Given the description of an element on the screen output the (x, y) to click on. 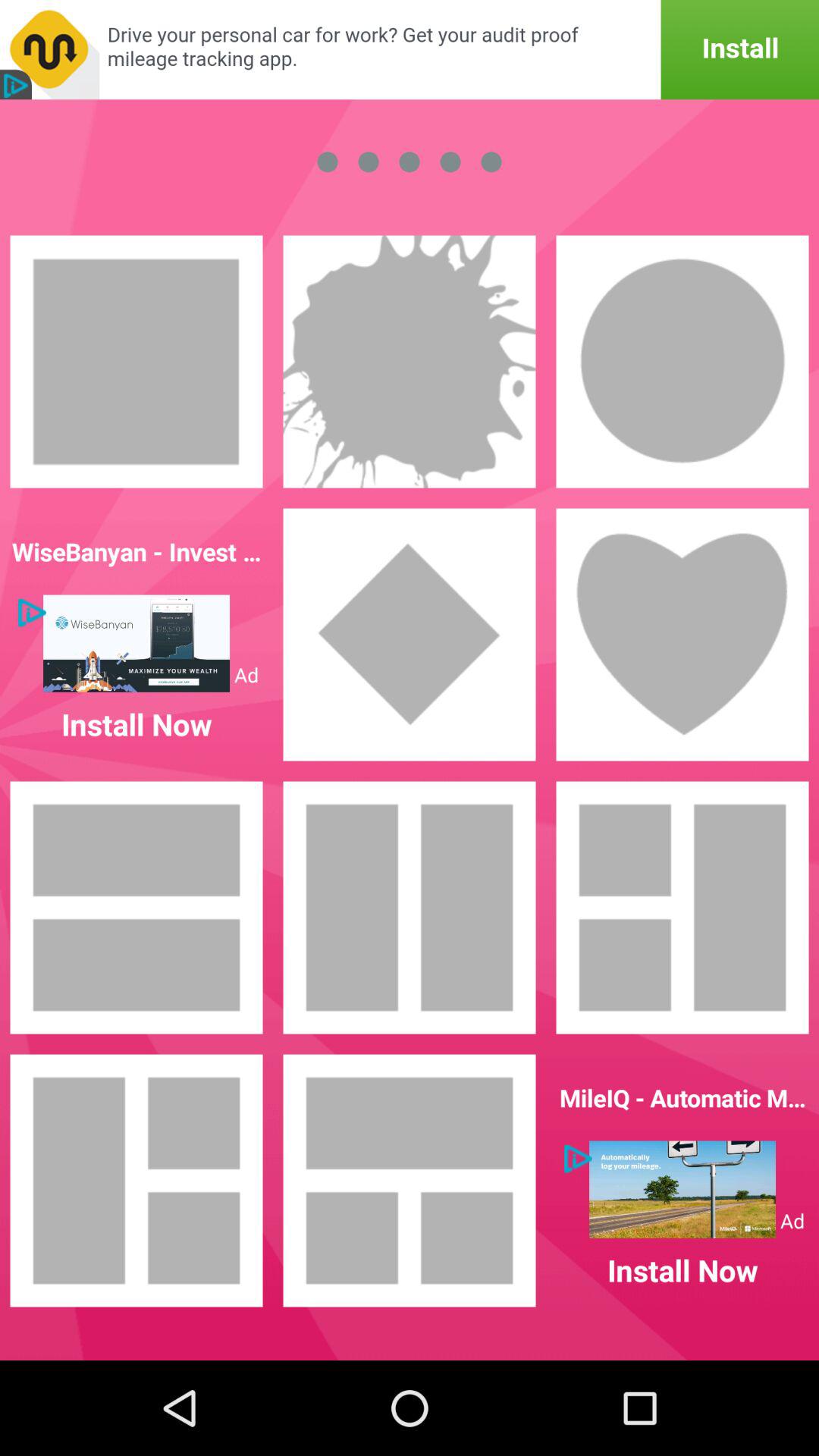
select a layout for photos (682, 907)
